Given the description of an element on the screen output the (x, y) to click on. 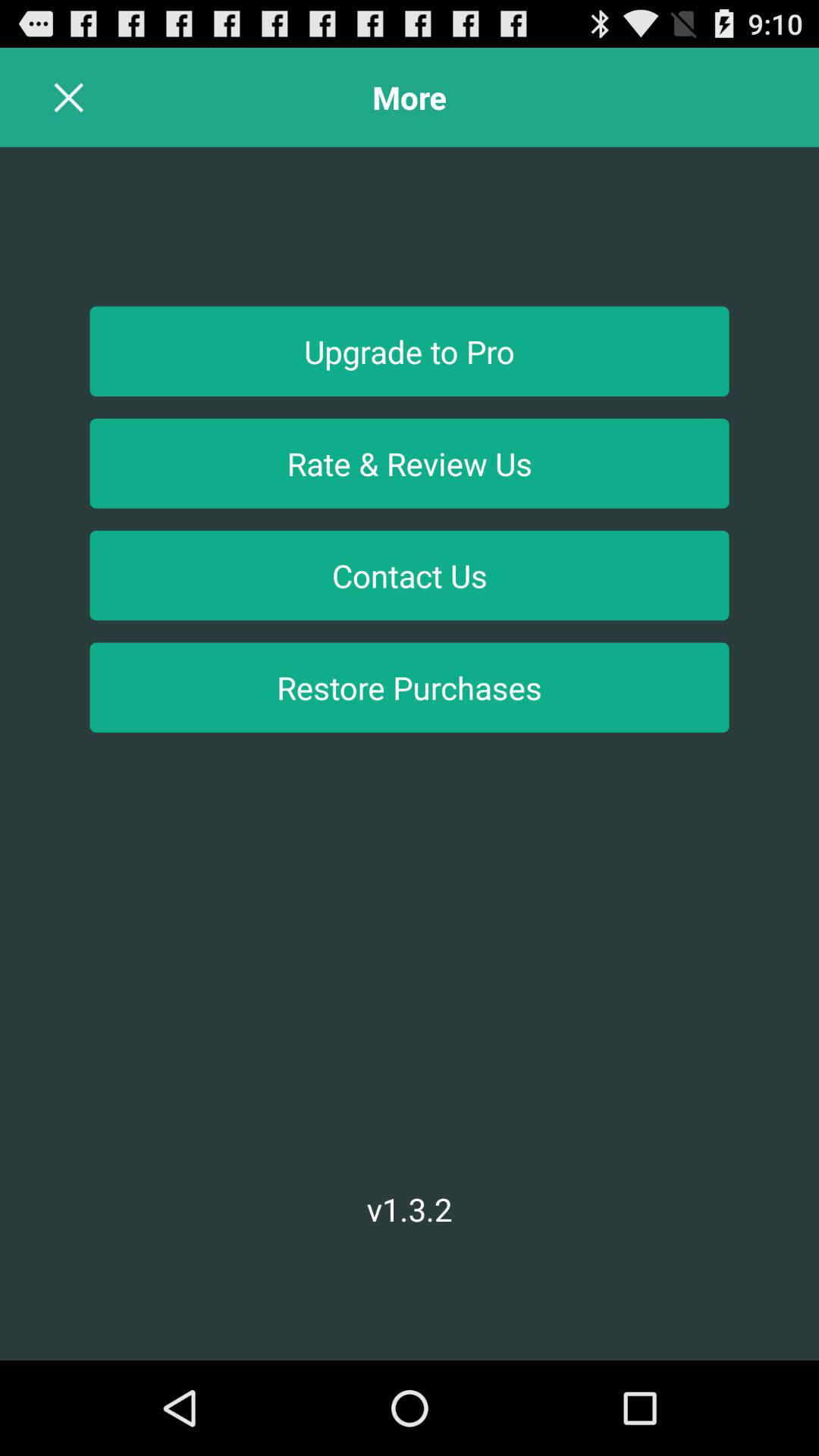
click icon below the more app (409, 351)
